Given the description of an element on the screen output the (x, y) to click on. 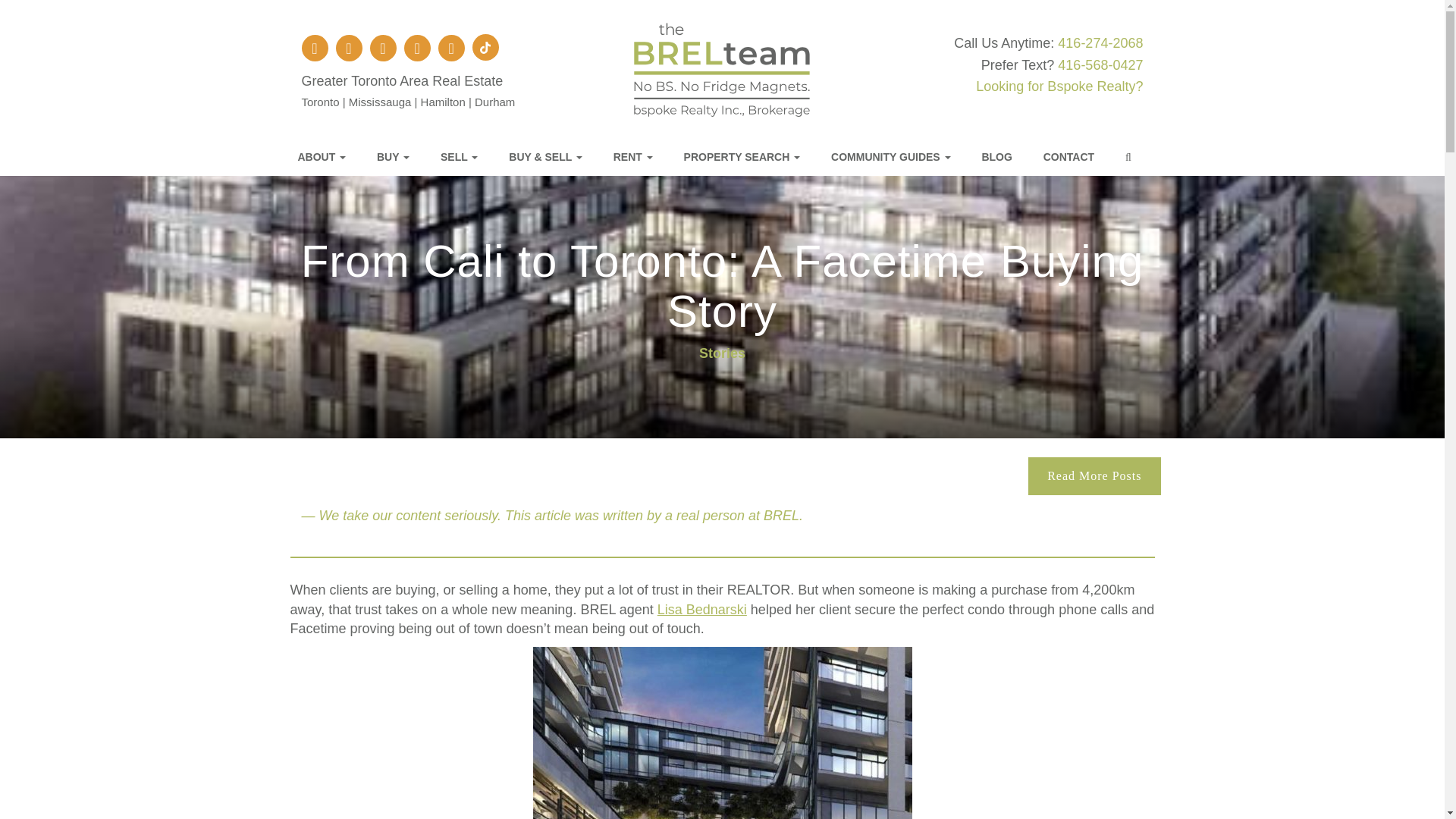
416-274-2068 (1100, 43)
416-568-0427 (1100, 64)
BUY (400, 157)
Visit us on Youtube (451, 48)
Visit us on Instagram (349, 48)
SELL (466, 157)
Visit us on Facebook (315, 48)
Opens a widget where you can chat to one of our agents (1386, 792)
Read More Posts (1093, 476)
Visit us on TikTok (485, 47)
RENT (641, 157)
ABOUT (329, 157)
Visit us on Google Reviews (382, 48)
Visit us on Yelp (417, 48)
Looking for Bspoke Realty? (1058, 86)
